Given the description of an element on the screen output the (x, y) to click on. 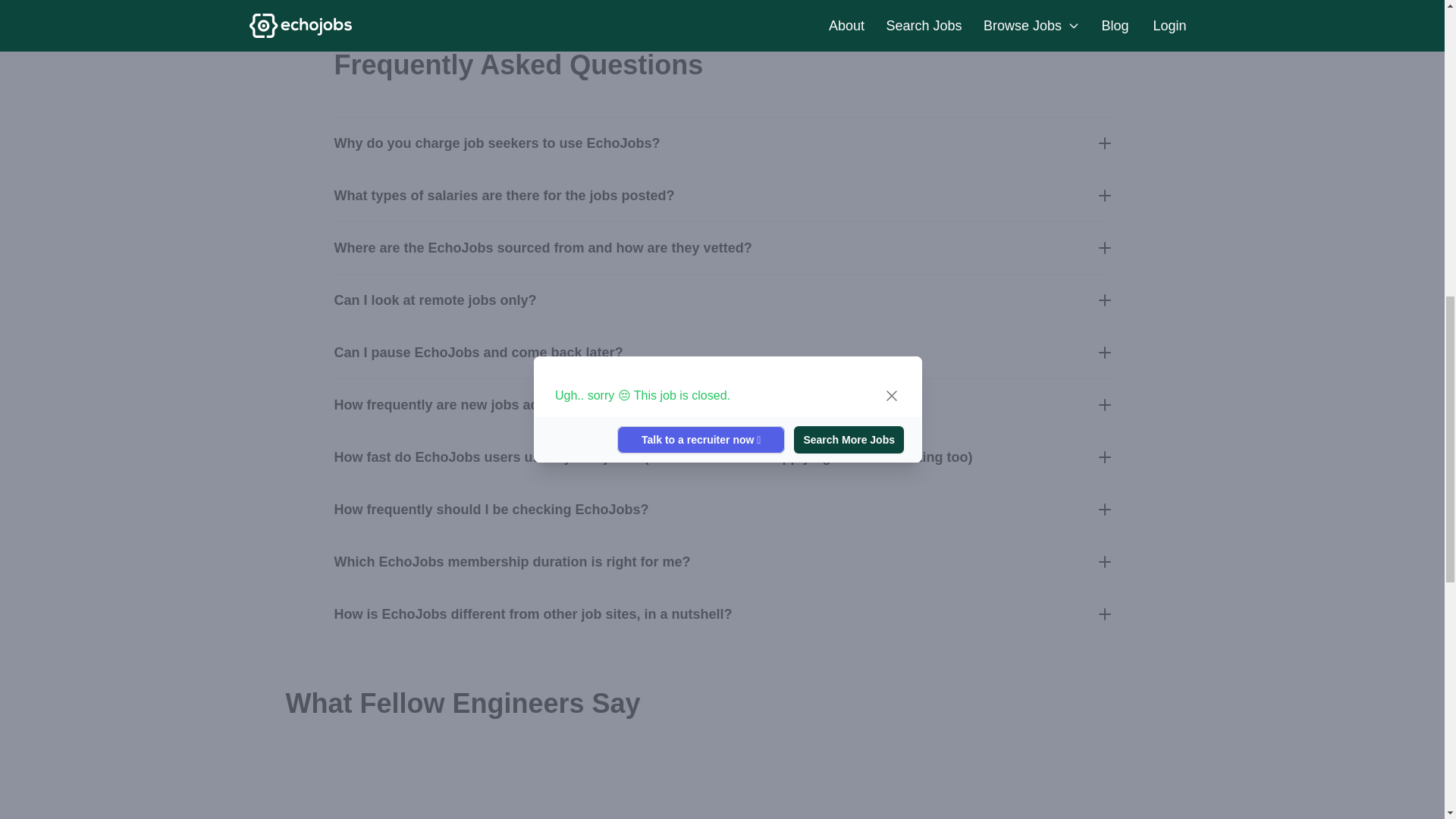
Can I look at remote jobs only? (721, 299)
How frequently should I be checking EchoJobs? (721, 509)
What types of salaries are there for the jobs posted? (721, 194)
Where are the EchoJobs sourced from and how are they vetted? (721, 247)
Why do you charge job seekers to use EchoJobs? (721, 142)
Which EchoJobs membership duration is right for me? (721, 561)
Can I pause EchoJobs and come back later? (721, 351)
